Given the description of an element on the screen output the (x, y) to click on. 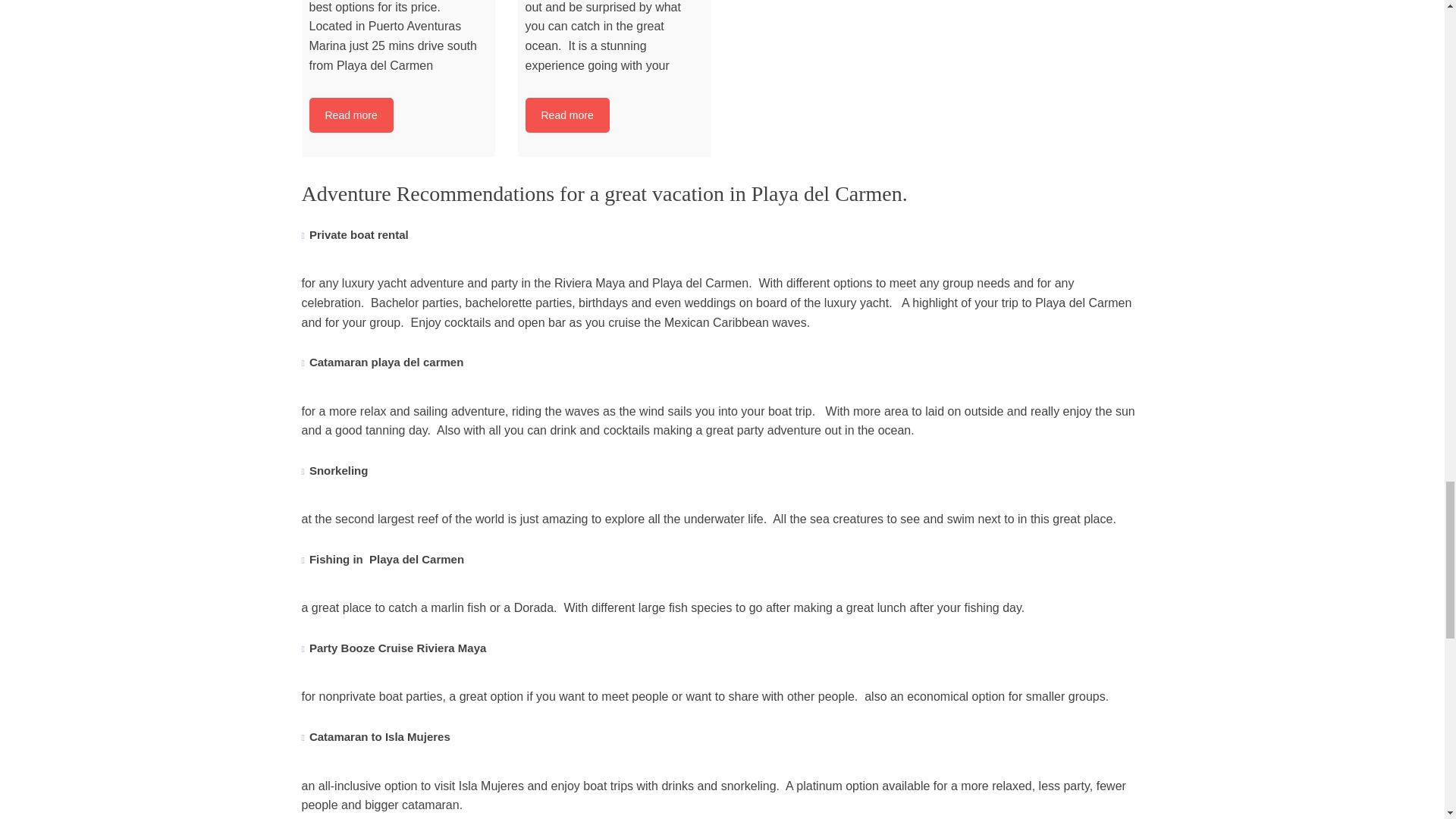
Party Booze Cruise Riviera Maya (397, 647)
Read more (350, 114)
Fishing in  Playa del Carmen (386, 558)
Read more (566, 114)
Private boat rental (358, 234)
